Given the description of an element on the screen output the (x, y) to click on. 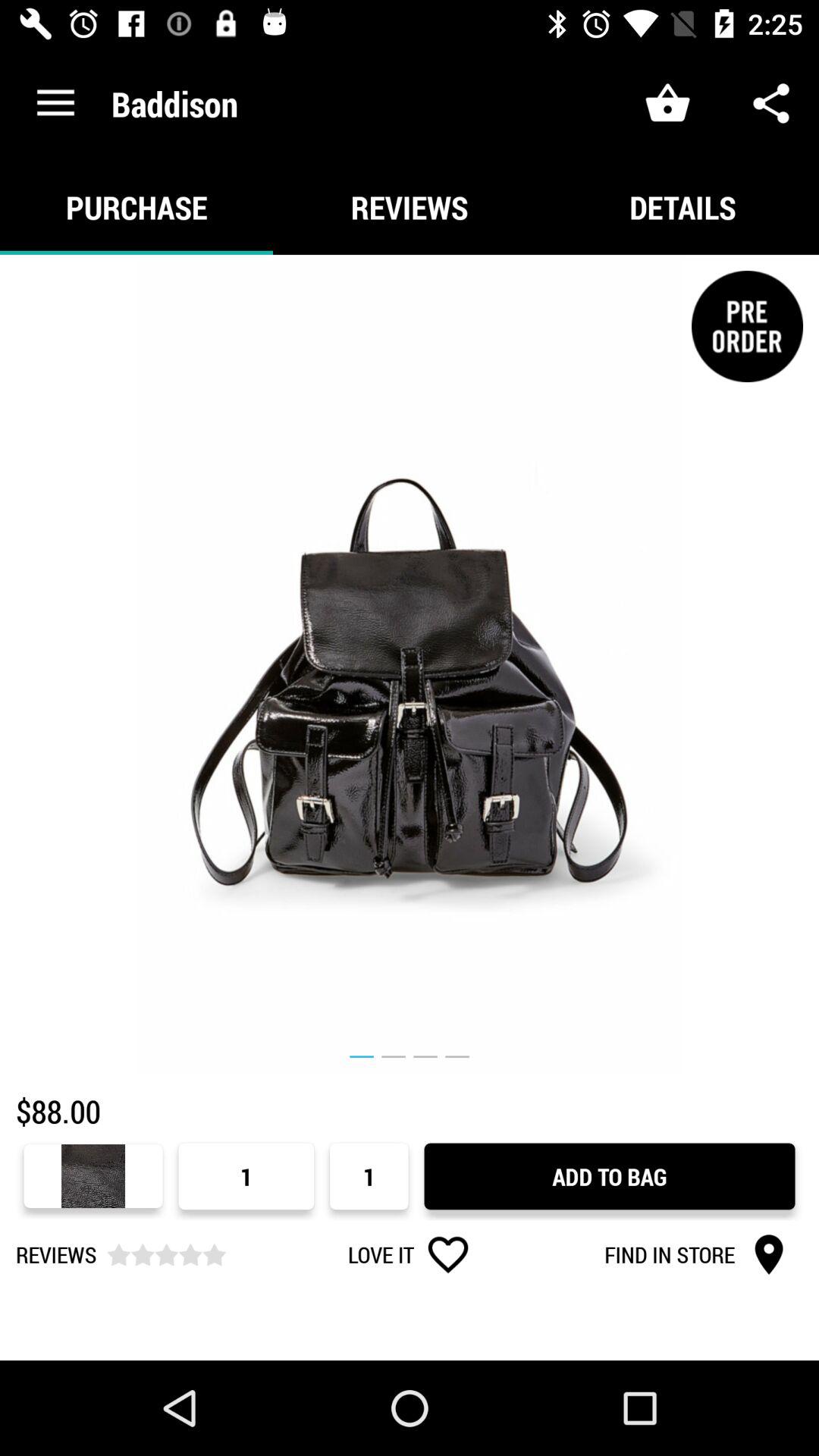
select icon above the details (771, 103)
